Given the description of an element on the screen output the (x, y) to click on. 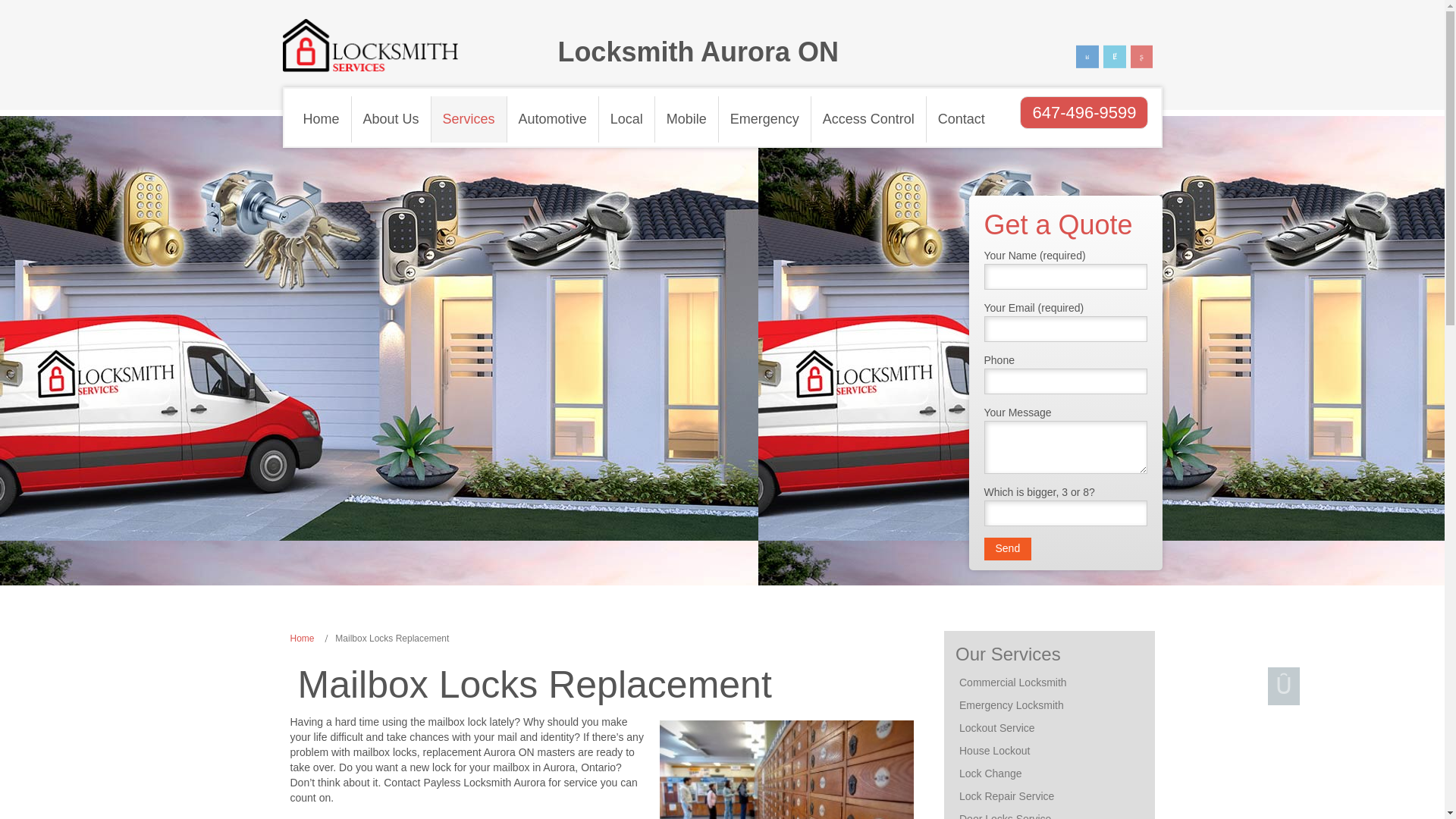
Emergency (764, 119)
About Us (391, 119)
Access Control (868, 119)
Local (626, 119)
Home (320, 119)
Mobile (687, 119)
Send (1008, 548)
Automotive (552, 119)
Services (468, 119)
